Given the description of an element on the screen output the (x, y) to click on. 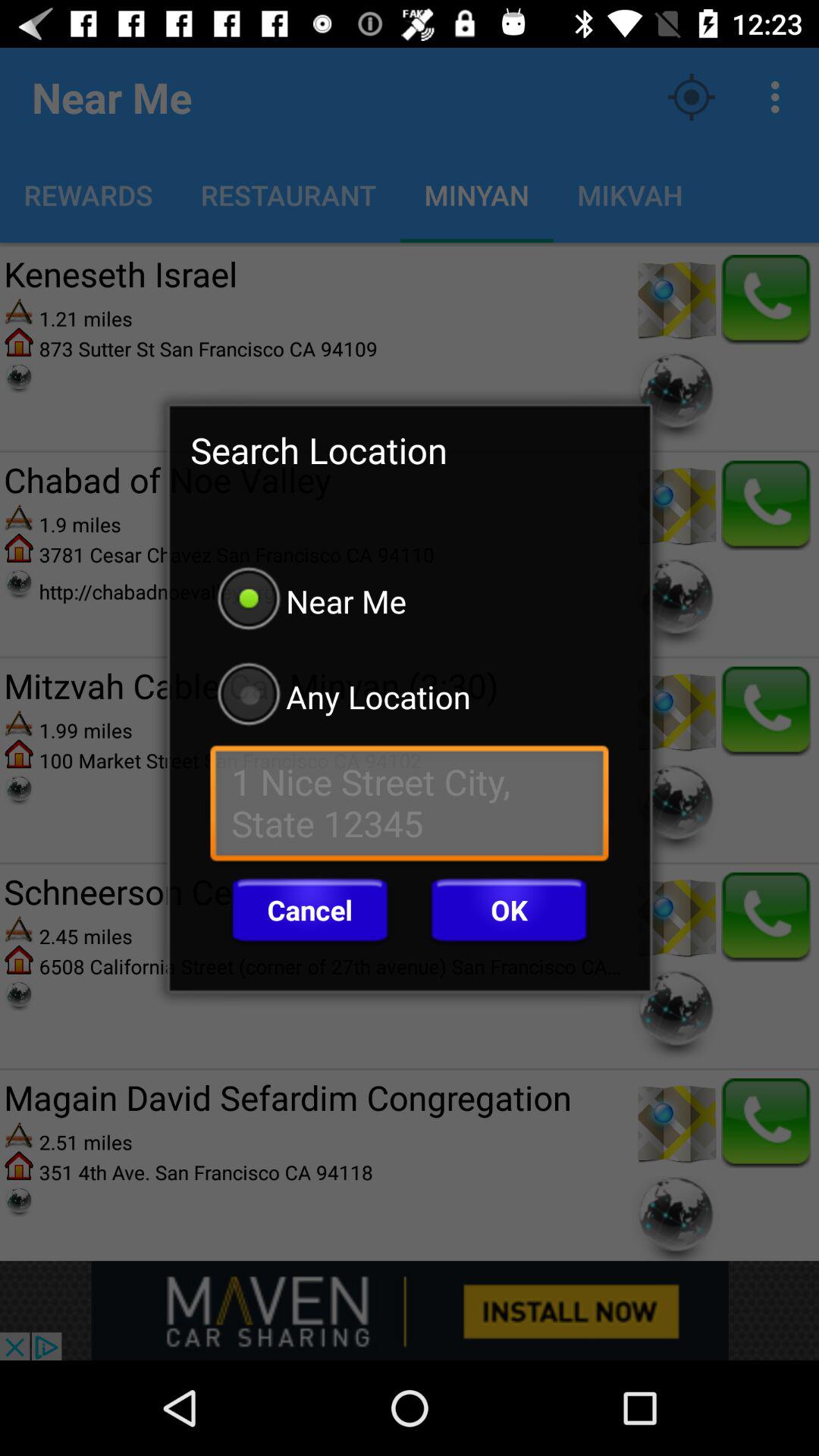
tap the cancel item (309, 909)
